Given the description of an element on the screen output the (x, y) to click on. 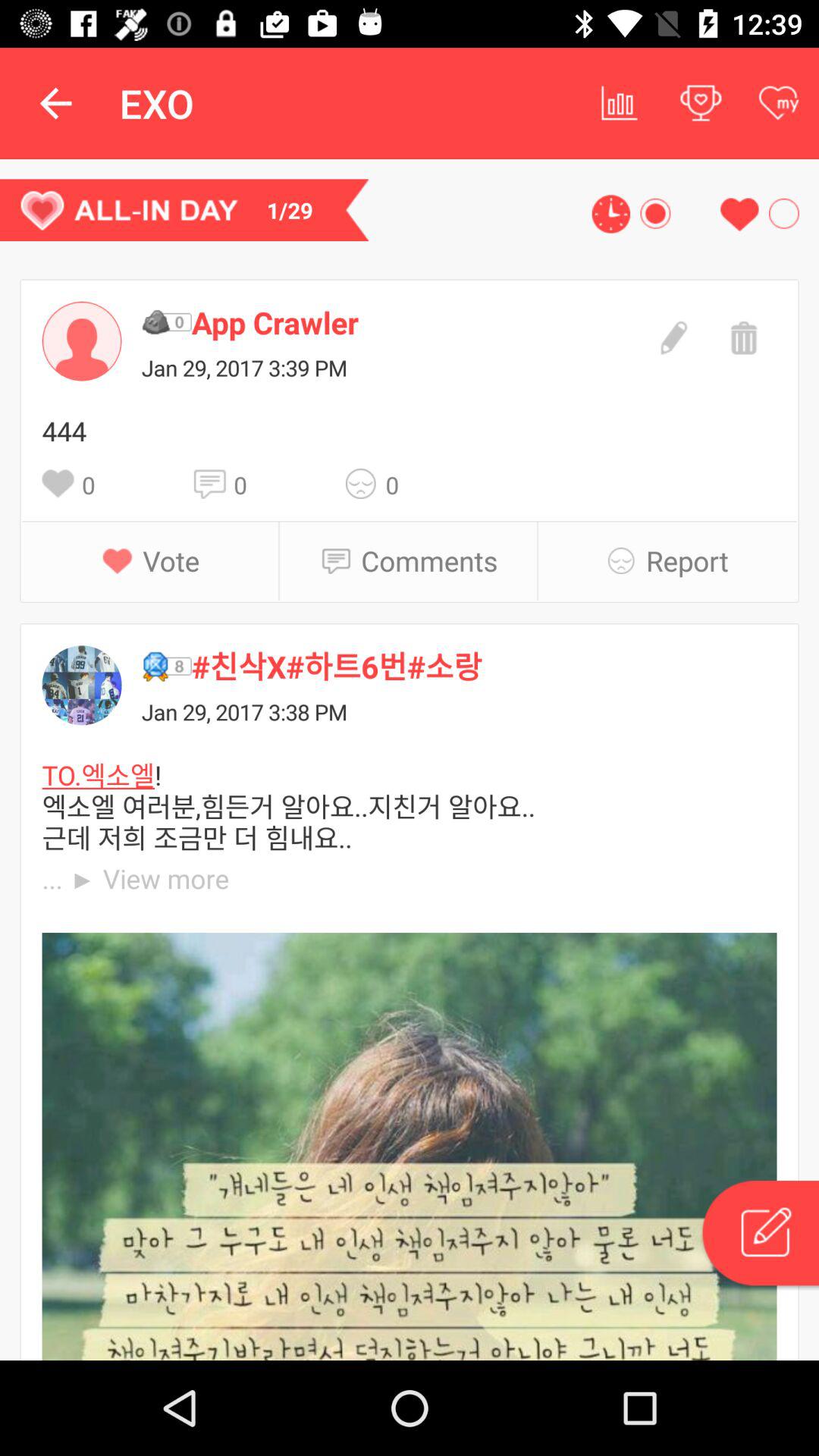
choose item above the 1/29 item (55, 103)
